Given the description of an element on the screen output the (x, y) to click on. 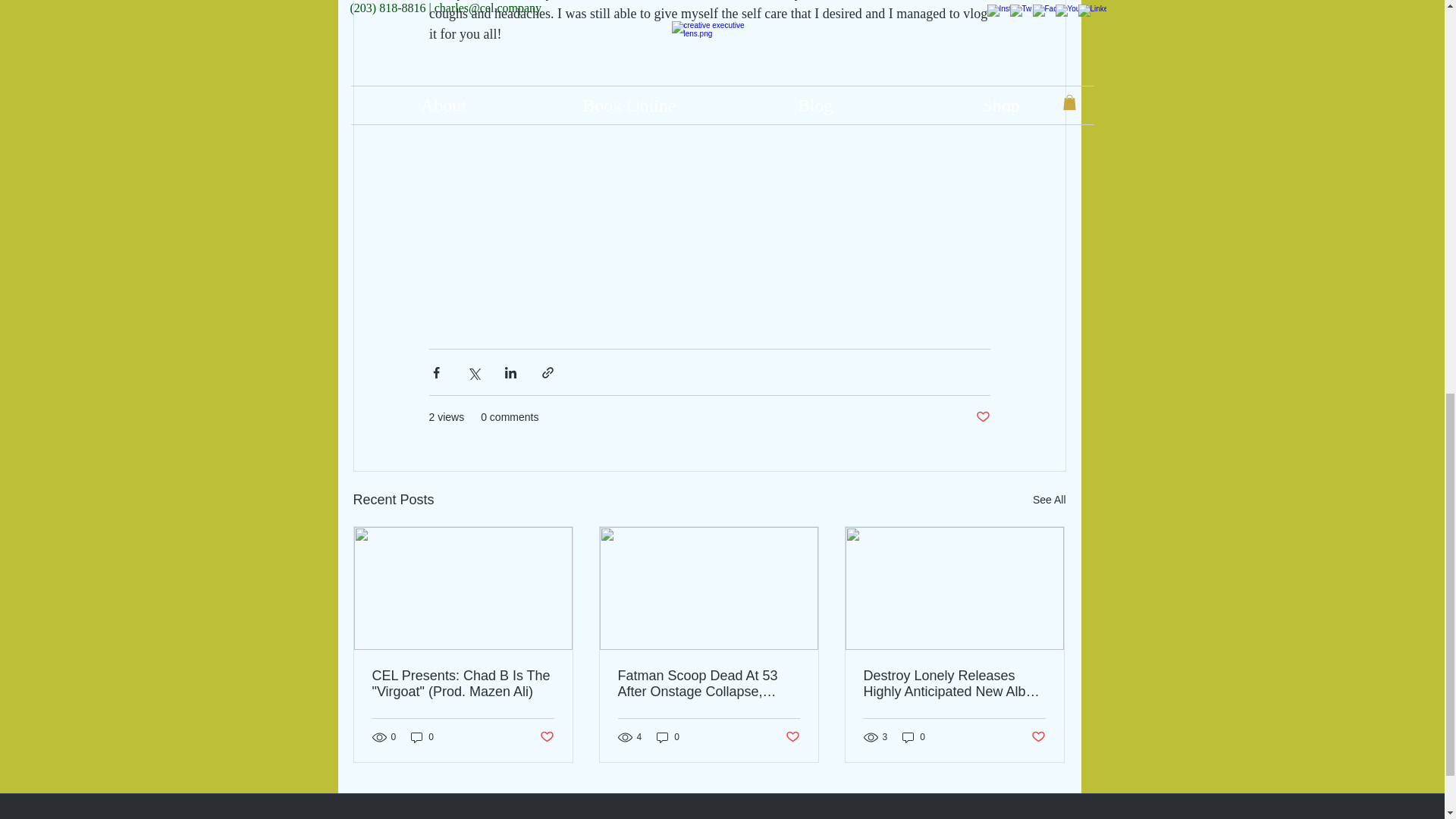
Post not marked as liked (1037, 737)
0 (913, 737)
See All (1048, 499)
0 (422, 737)
Post not marked as liked (792, 737)
Post not marked as liked (547, 737)
0 (668, 737)
Post not marked as liked (982, 417)
